Given the description of an element on the screen output the (x, y) to click on. 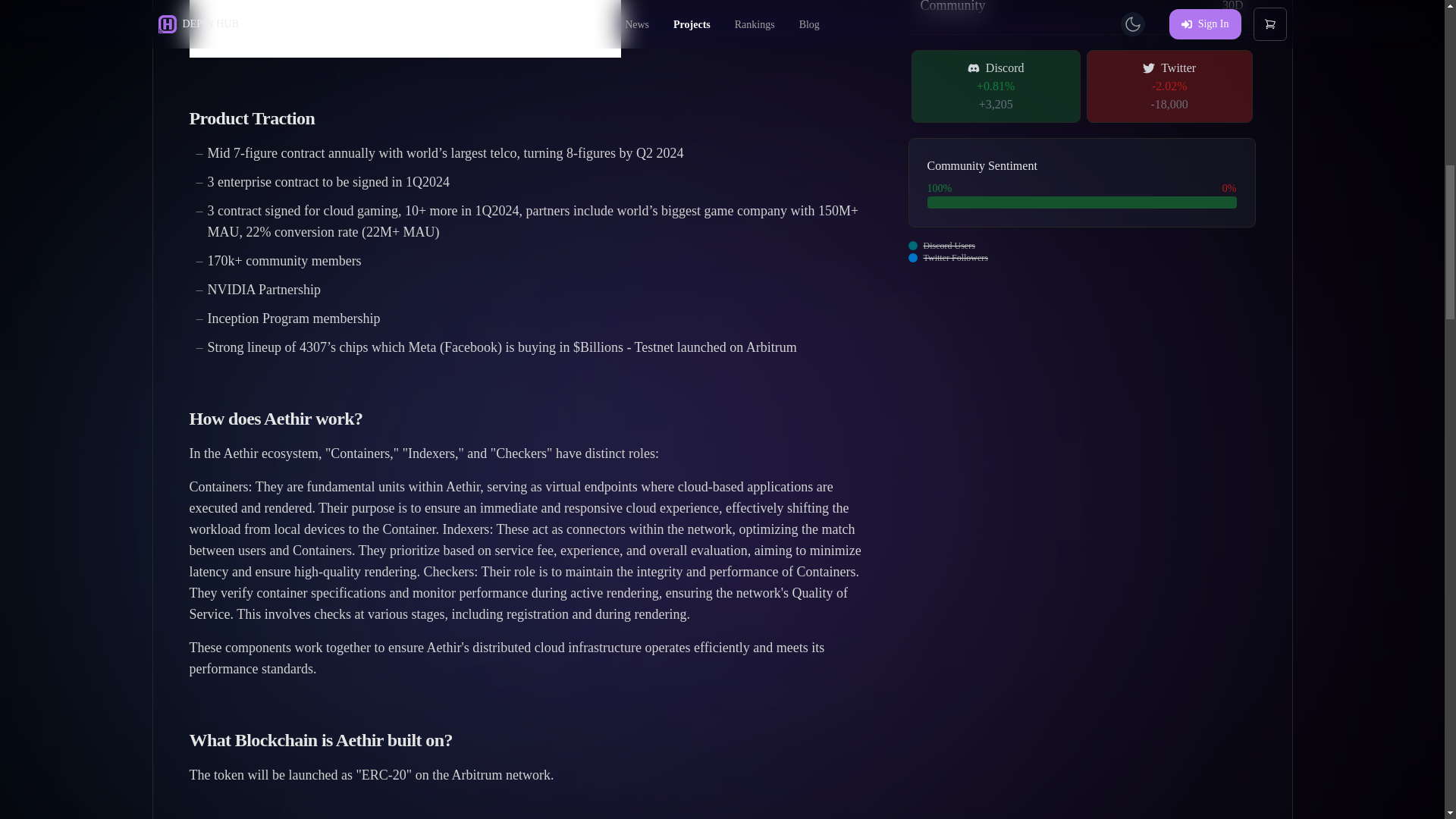
The Aethir Interview (405, 28)
